Given the description of an element on the screen output the (x, y) to click on. 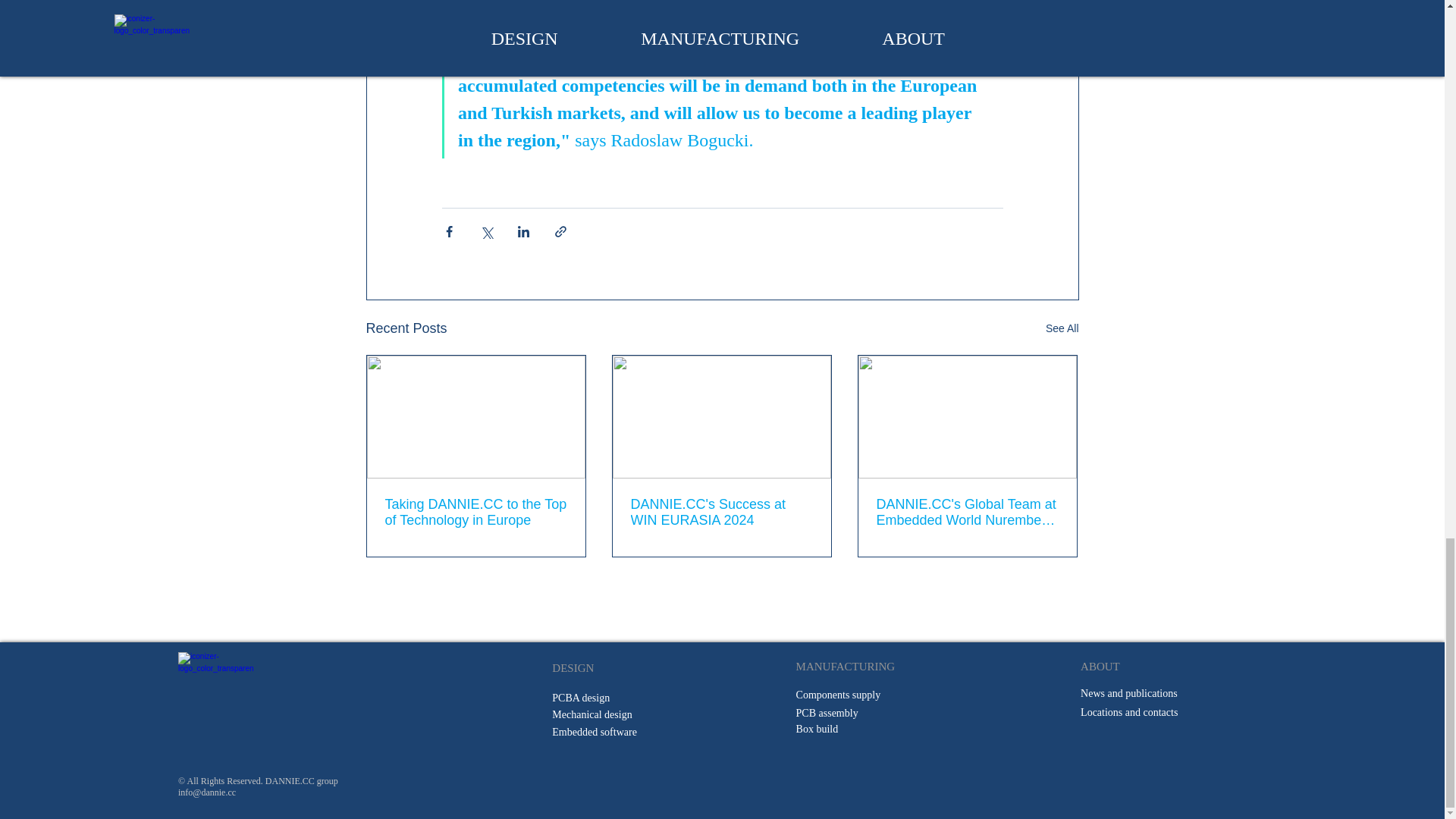
PCBA design (580, 697)
PCB assembly (827, 713)
DANNIE.CC's Global Team at Embedded World Nuremberg Fair! (967, 512)
News and publications (1128, 693)
DANNIE.CC's Success at WIN EURASIA 2024 (721, 512)
Embedded software (594, 731)
See All (1061, 328)
Taking DANNIE.CC to the Top of Technology in Europe (476, 512)
Box build (817, 728)
Locations and contacts (1128, 712)
